Given the description of an element on the screen output the (x, y) to click on. 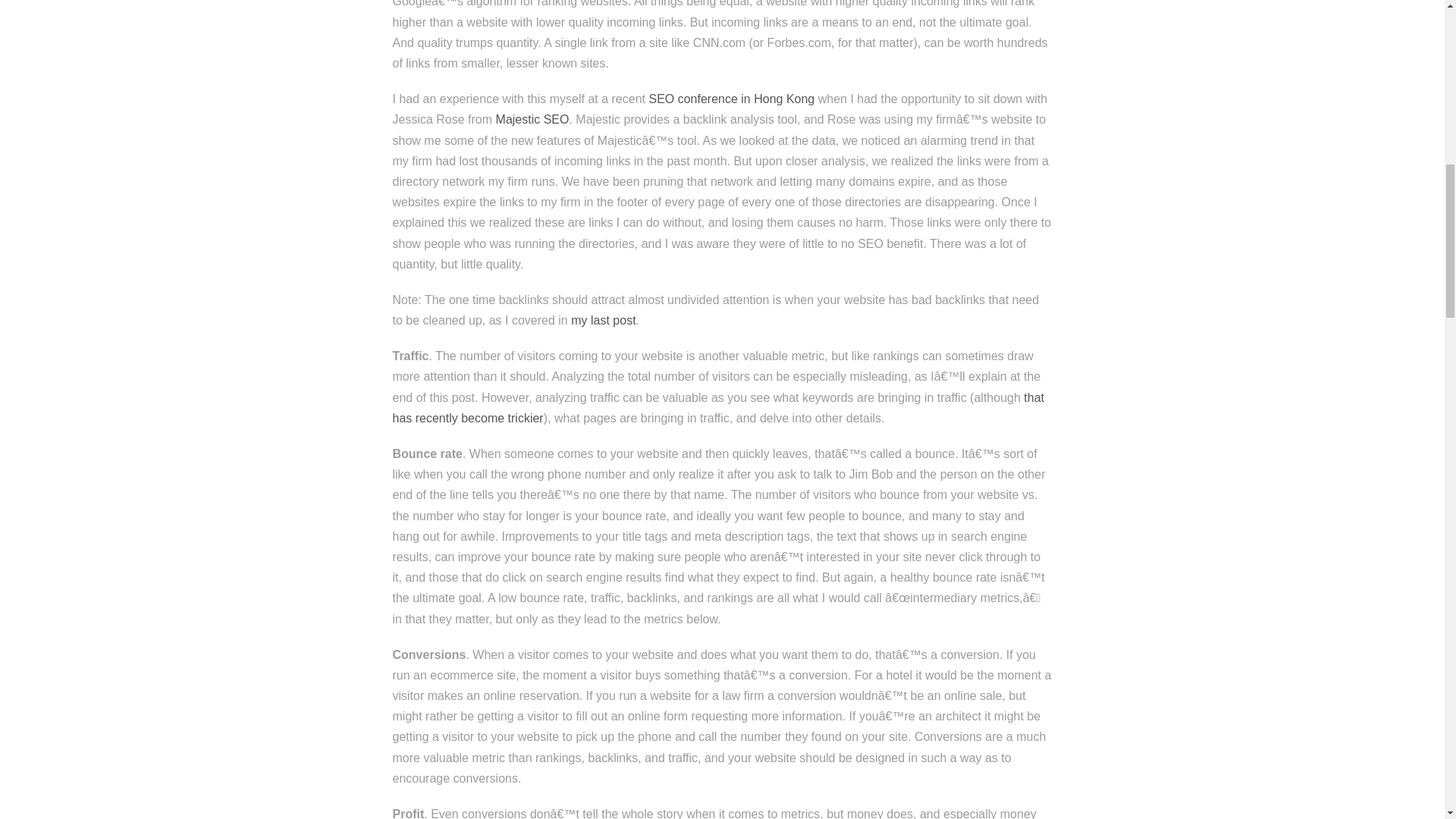
that has recently become trickier (718, 408)
Majestic SEO (532, 119)
my last post (602, 319)
SEO conference in Hong Kong (730, 98)
